Given the description of an element on the screen output the (x, y) to click on. 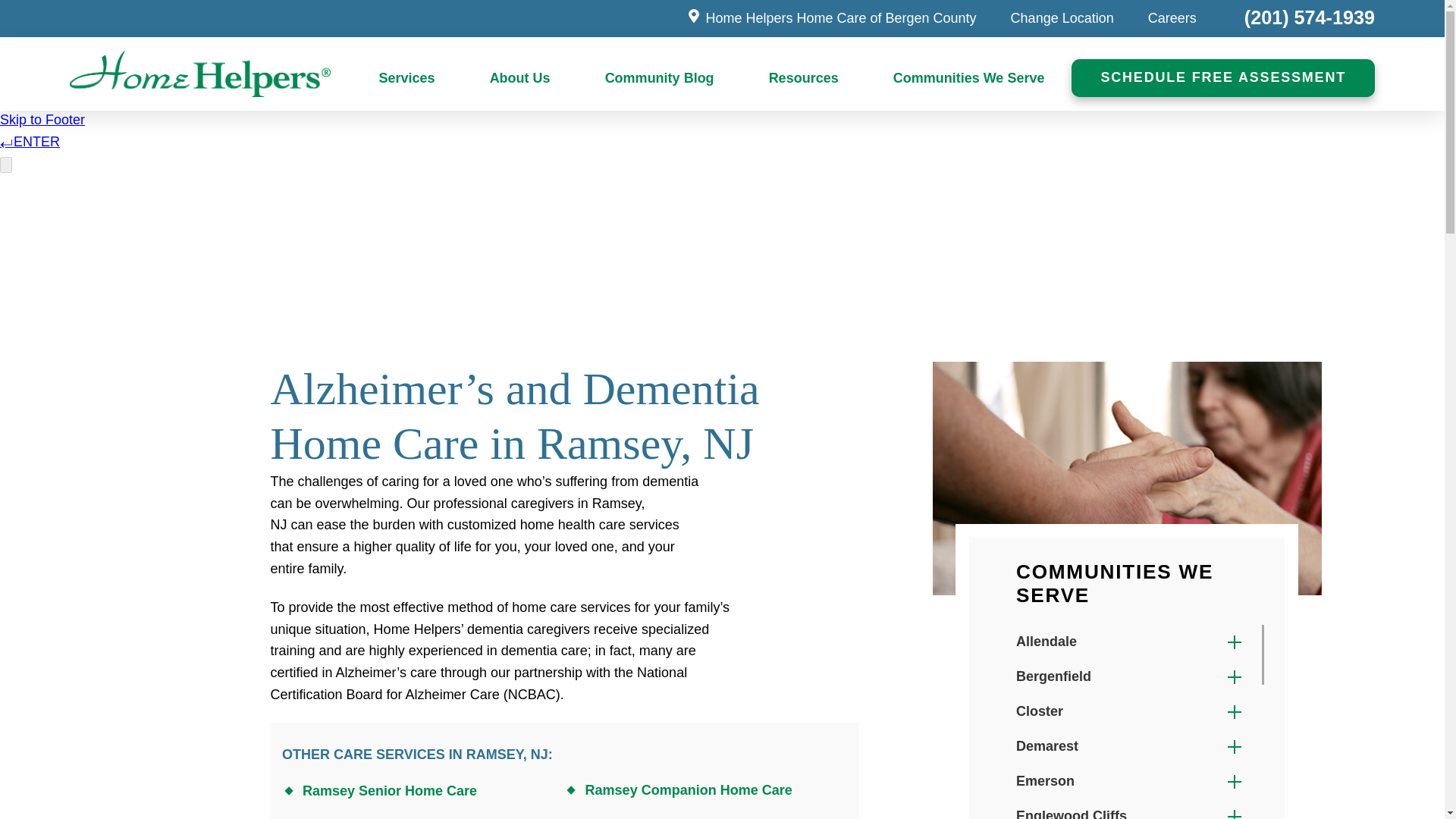
Community Blog (659, 79)
Services (407, 79)
Careers (1172, 18)
Home Helpers Home Care of Bergen County (831, 18)
About Us (520, 79)
Change Location (1061, 18)
Resources (803, 79)
